Given the description of an element on the screen output the (x, y) to click on. 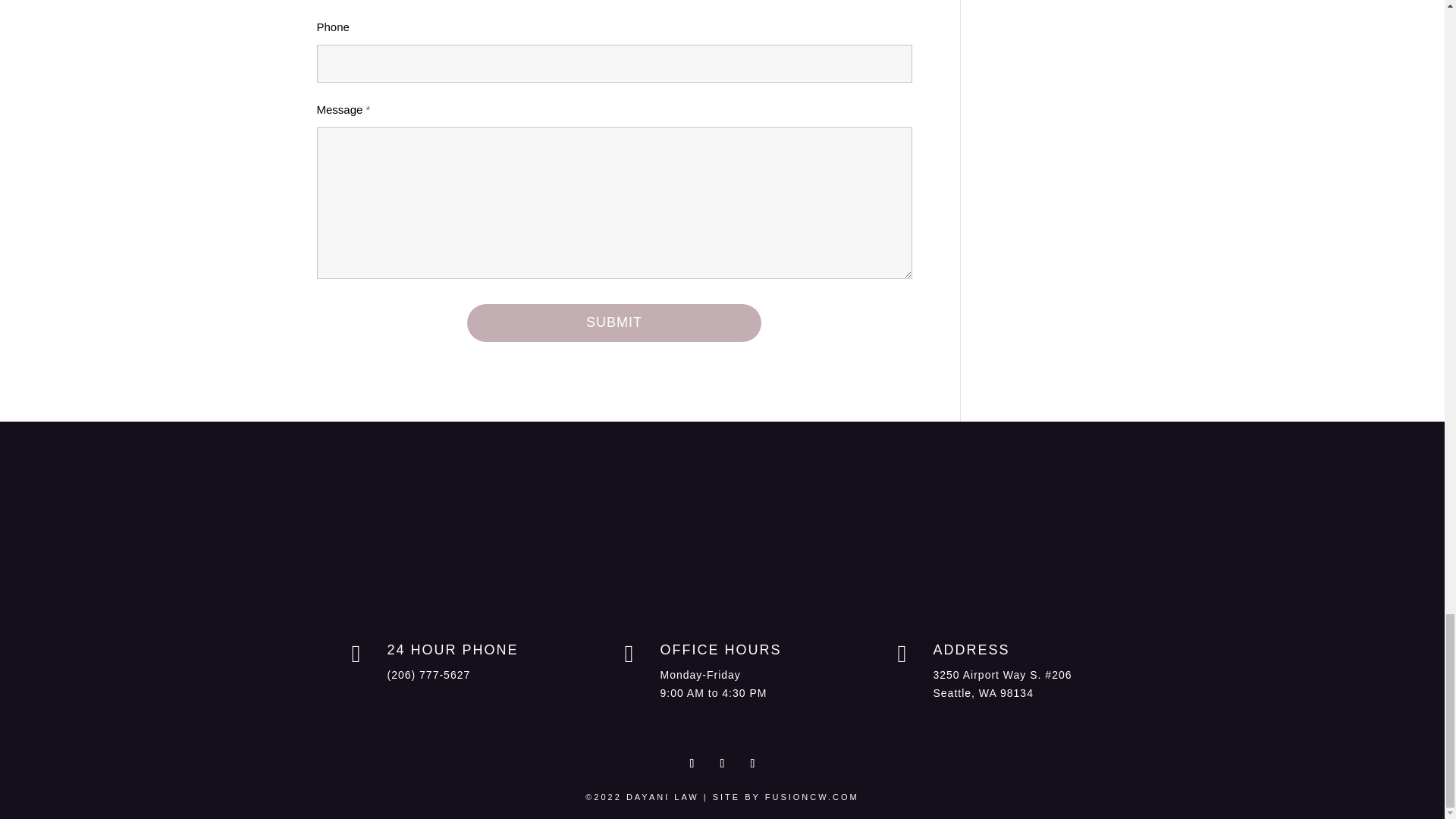
Follow on Twitter (721, 763)
Submit (614, 322)
Follow on Facebook (691, 763)
Follow on Instagram (751, 763)
Submit (614, 322)
logo-purple2 (721, 538)
